Given the description of an element on the screen output the (x, y) to click on. 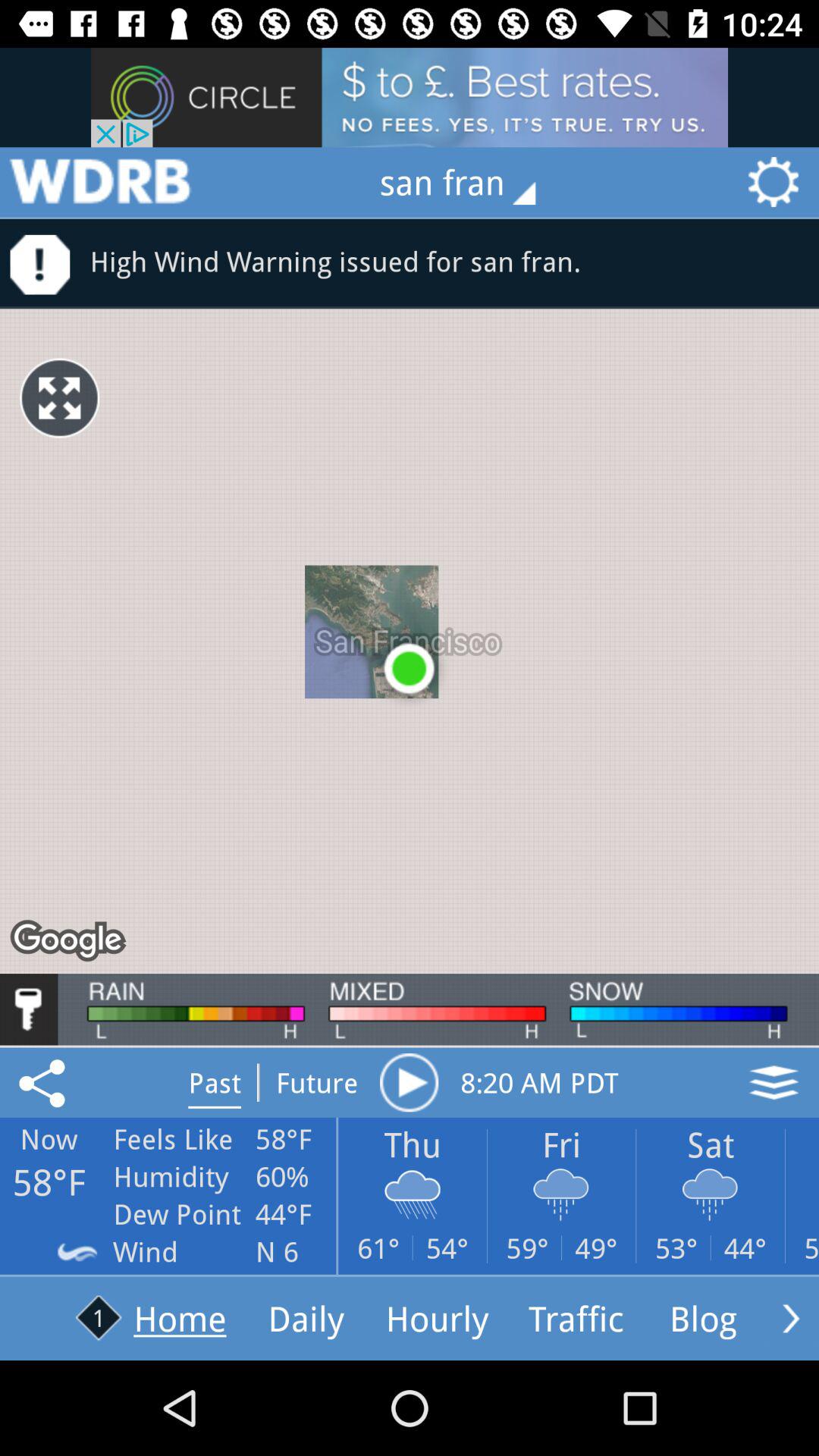
go to homepage (99, 182)
